Given the description of an element on the screen output the (x, y) to click on. 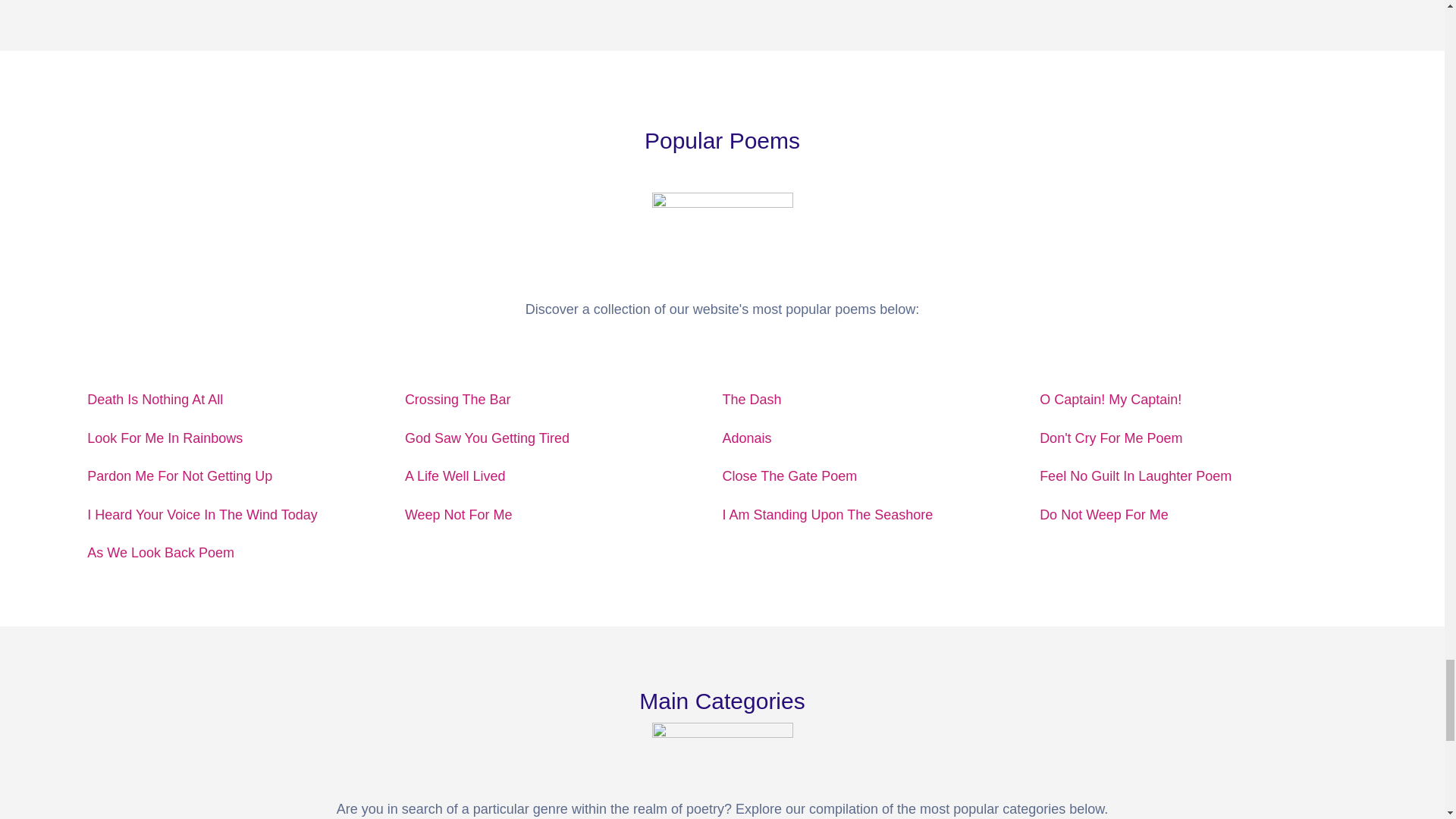
I Am Standing Upon The Seashore (827, 514)
A Life Well Lived (454, 476)
God Saw You Getting Tired (486, 437)
O Captain! My Captain! (1109, 399)
Crossing The Bar (457, 399)
Pardon Me For Not Getting Up (179, 476)
Death Is Nothing At All (154, 399)
I Heard Your Voice In The Wind Today (202, 514)
Don't Cry For Me Poem (1110, 437)
Look For Me In Rainbows (165, 437)
